Given the description of an element on the screen output the (x, y) to click on. 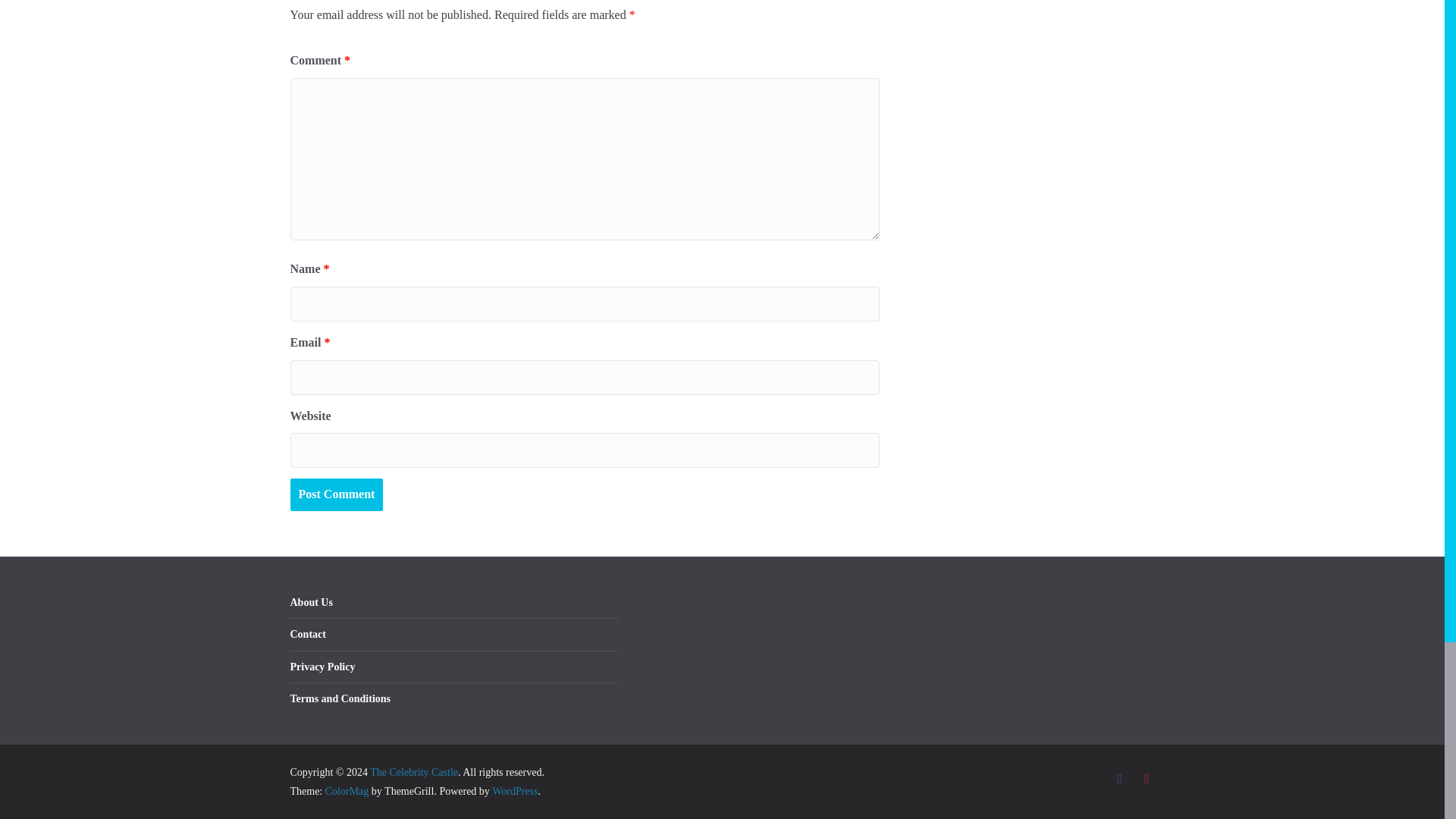
The Celebrity Castle (413, 772)
Post Comment (335, 494)
WordPress (514, 790)
Post Comment (335, 494)
ColorMag (346, 790)
